Given the description of an element on the screen output the (x, y) to click on. 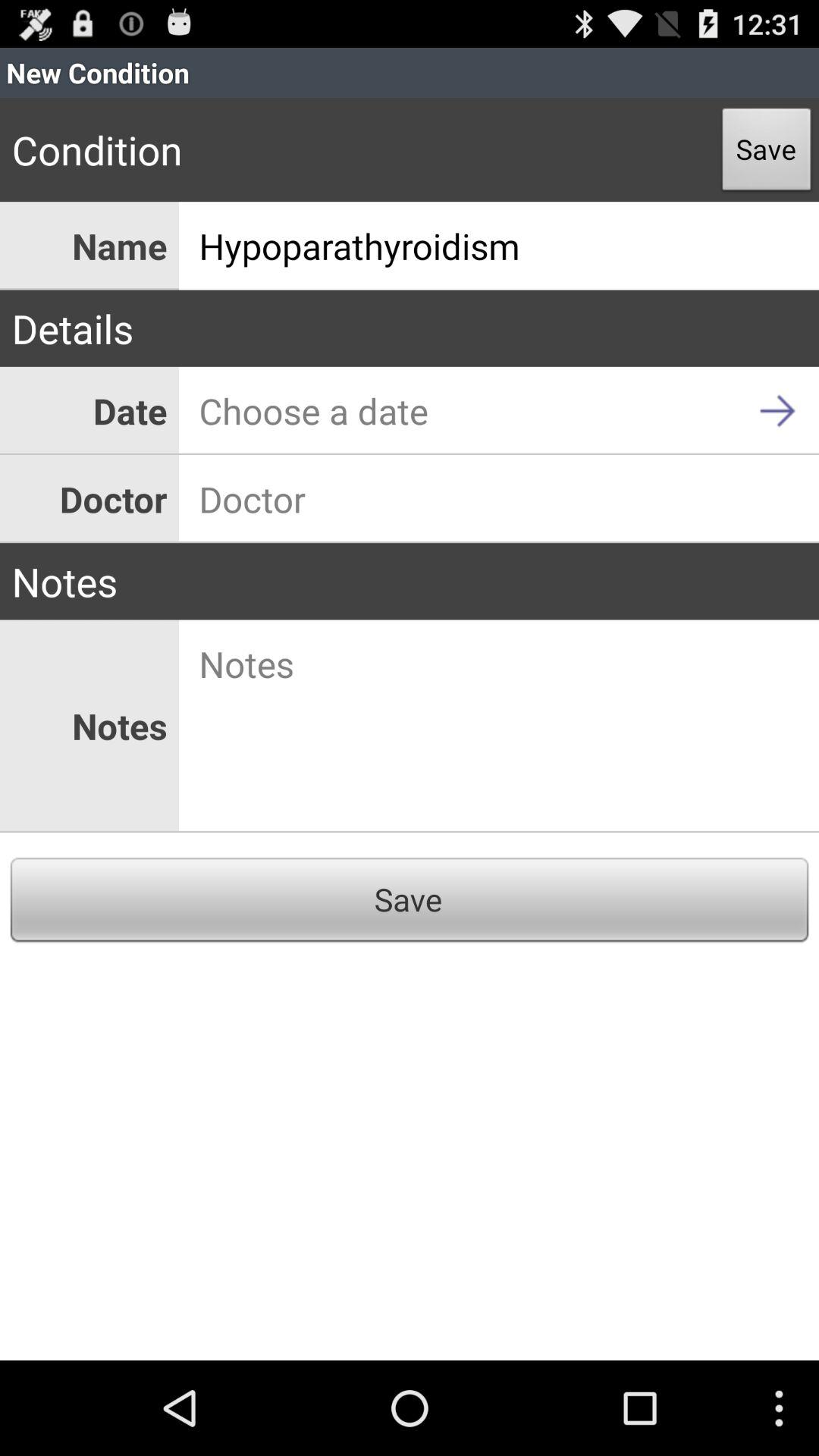
date entry field (499, 410)
